Given the description of an element on the screen output the (x, y) to click on. 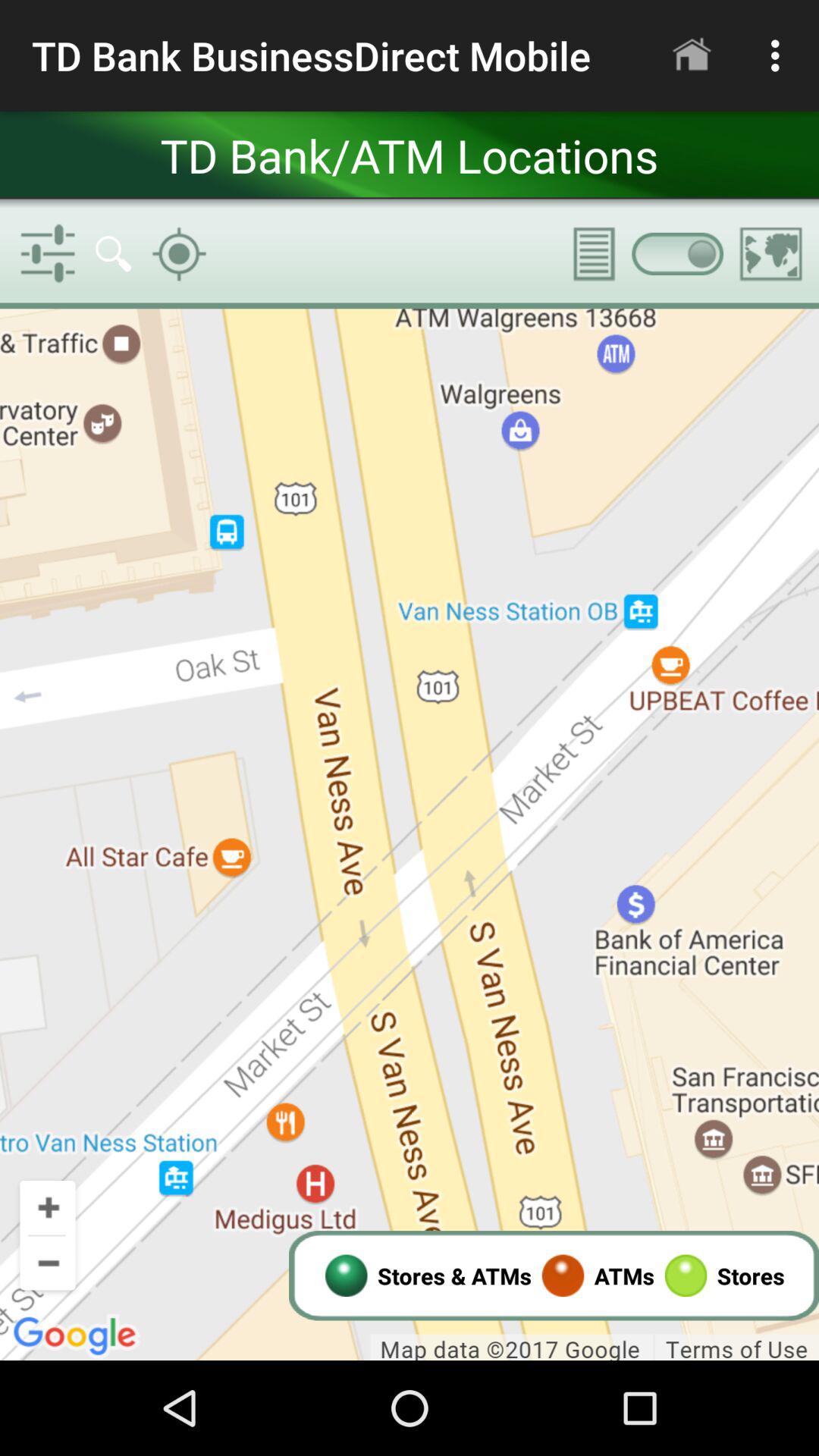
interactive map (409, 834)
